Given the description of an element on the screen output the (x, y) to click on. 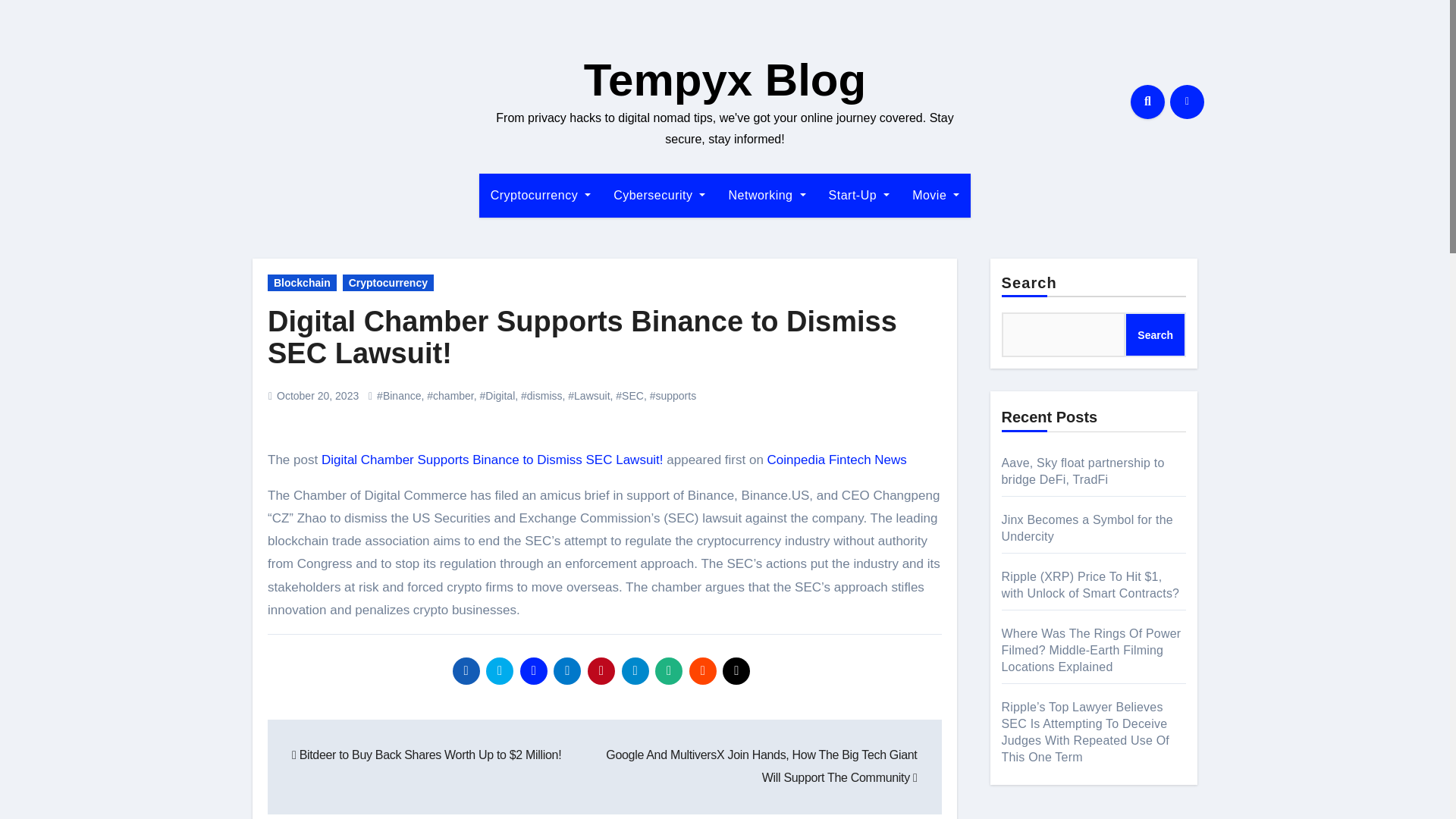
Tempyx Blog (724, 79)
Networking (766, 195)
Cryptocurrency (540, 195)
Cybersecurity (659, 195)
Cybersecurity (659, 195)
Cryptocurrency (540, 195)
